Given the description of an element on the screen output the (x, y) to click on. 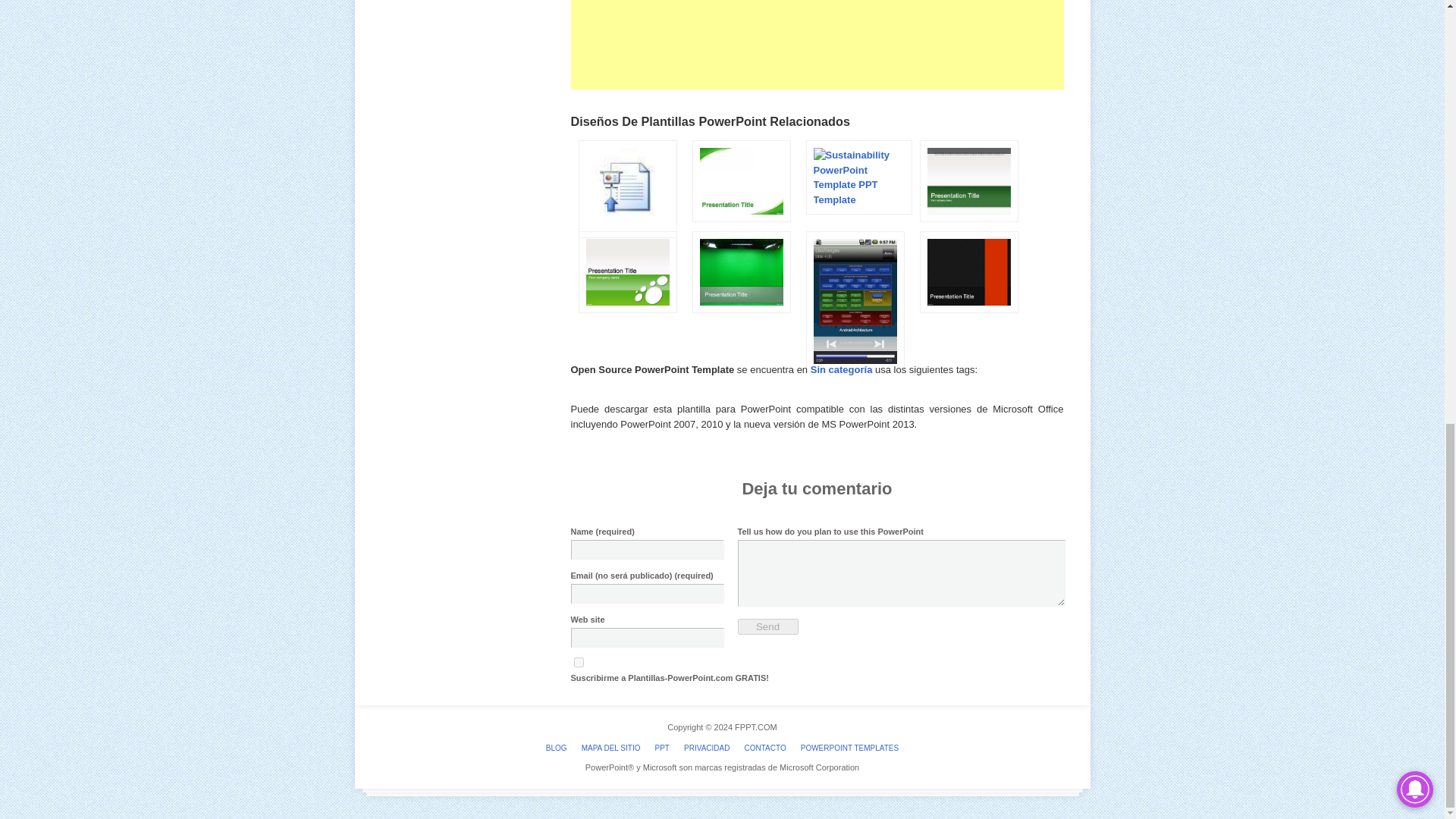
PPT (662, 747)
Attention PowerPoint Template (964, 225)
Advertisement (816, 44)
PowerPoint for Android (850, 375)
Buyer PowerPoint Template (623, 317)
BLOG (556, 747)
PRIVACIDAD (706, 747)
Green chrome PowerPoint Template (737, 317)
Style PowerPoint Template (964, 317)
MAPA DEL SITIO (610, 747)
How to open PPS files (623, 242)
Send (766, 626)
Send (766, 626)
Sustainability PowerPoint Template (854, 198)
subscribe (578, 662)
